Given the description of an element on the screen output the (x, y) to click on. 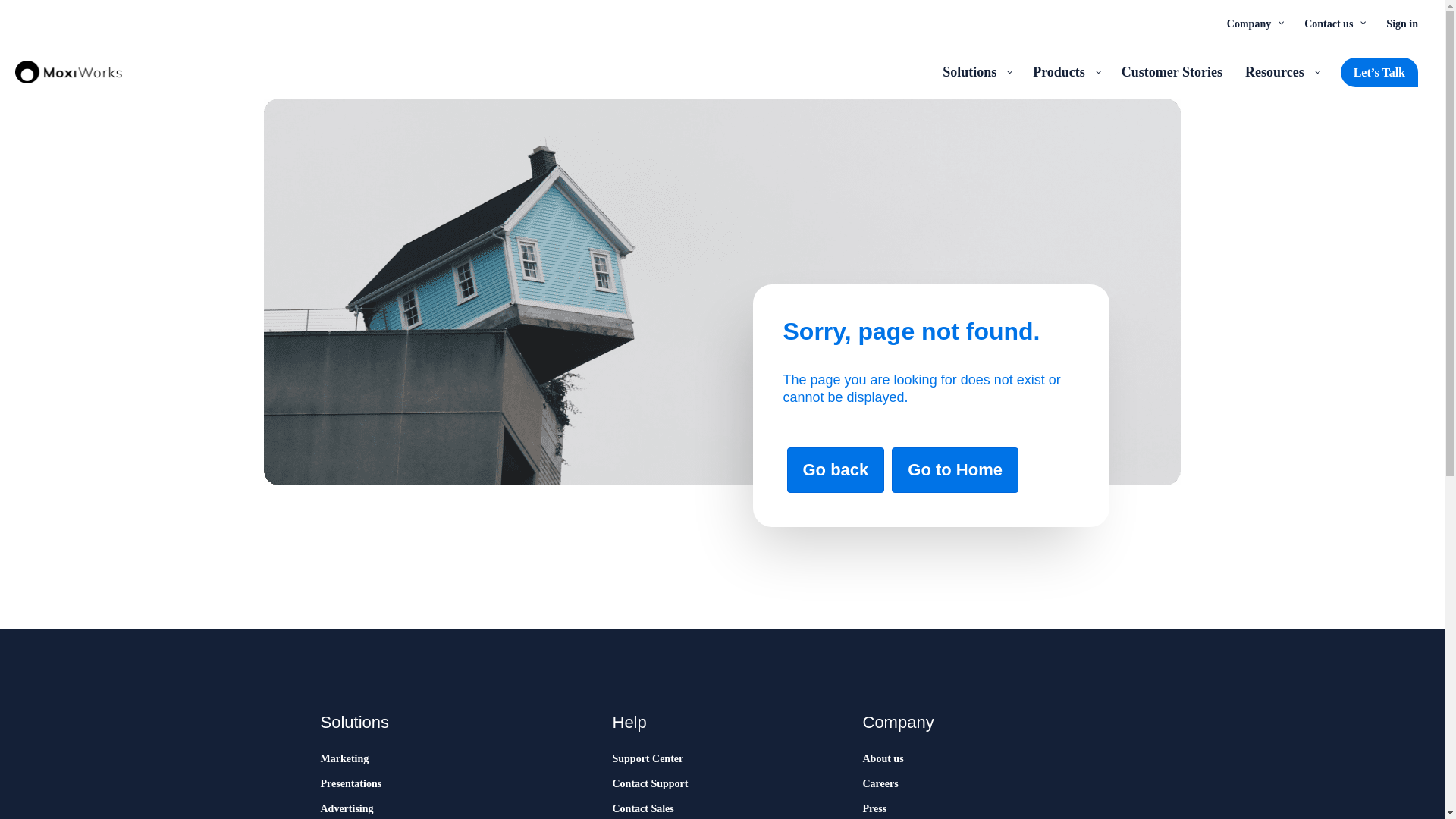
Sign in (1401, 22)
Solutions (976, 72)
Contact us (1333, 22)
Company (1253, 22)
Products (1065, 72)
